Given the description of an element on the screen output the (x, y) to click on. 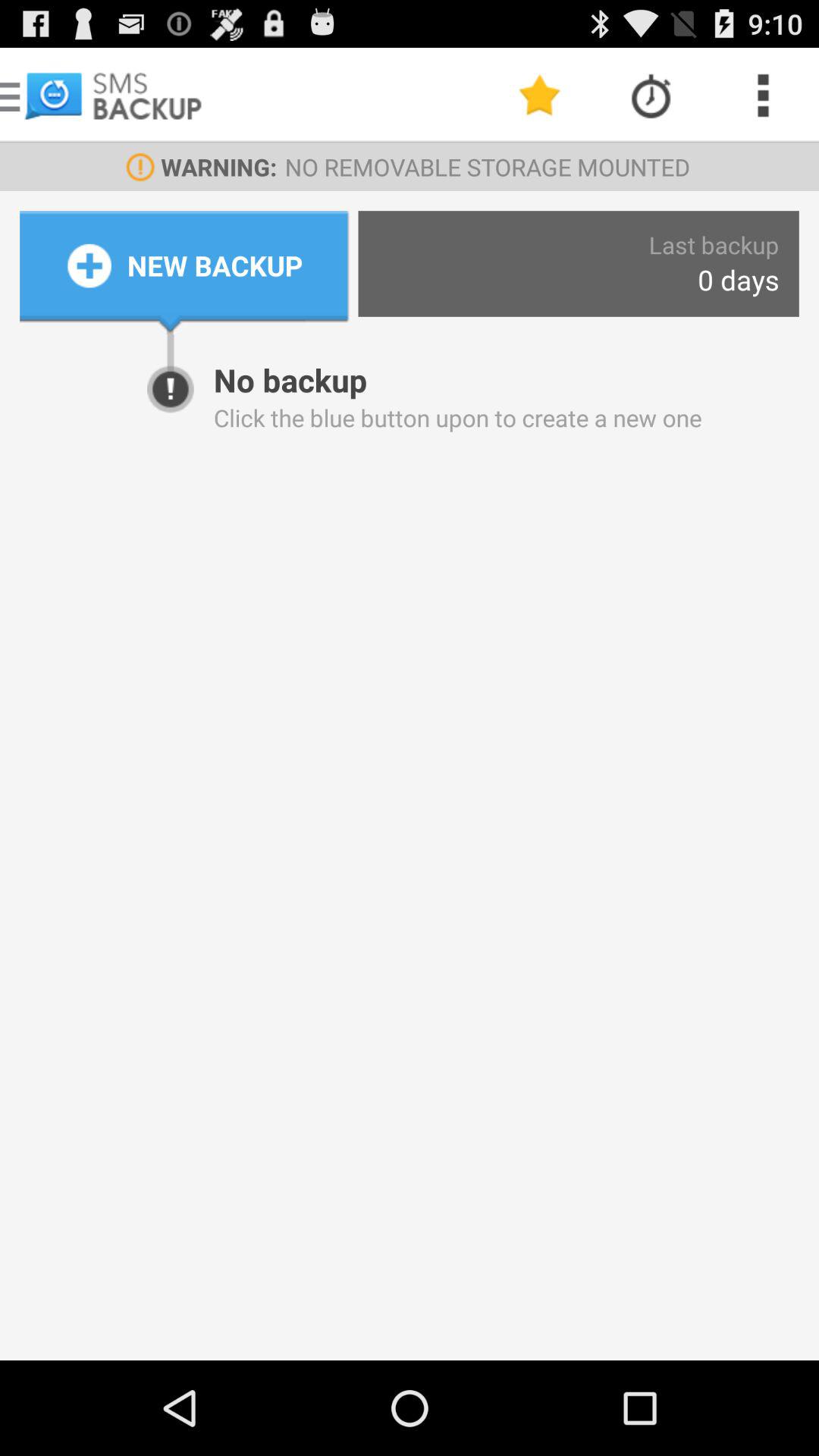
flip until the new backup item (215, 265)
